Given the description of an element on the screen output the (x, y) to click on. 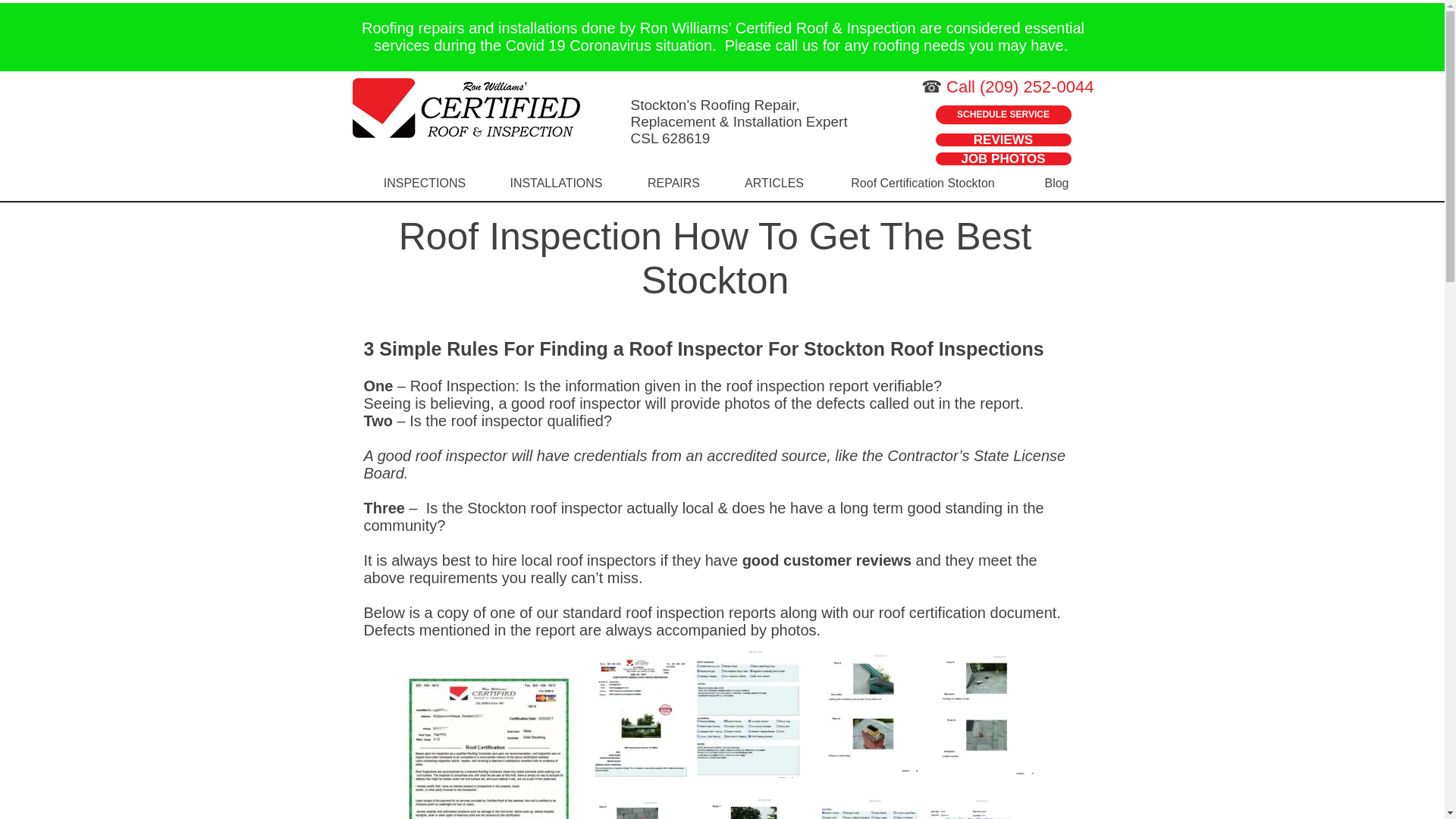
good customer (799, 560)
JOB PHOTOS (1003, 158)
Blog (1056, 183)
ARTICLES (773, 183)
Roof Certification Stockton (923, 183)
REPAIRS (673, 183)
INSTALLATIONS (555, 183)
reviews  (885, 560)
REVIEWS (1003, 139)
INSPECTIONS (424, 183)
SCHEDULE SERVICE (1003, 114)
